Given the description of an element on the screen output the (x, y) to click on. 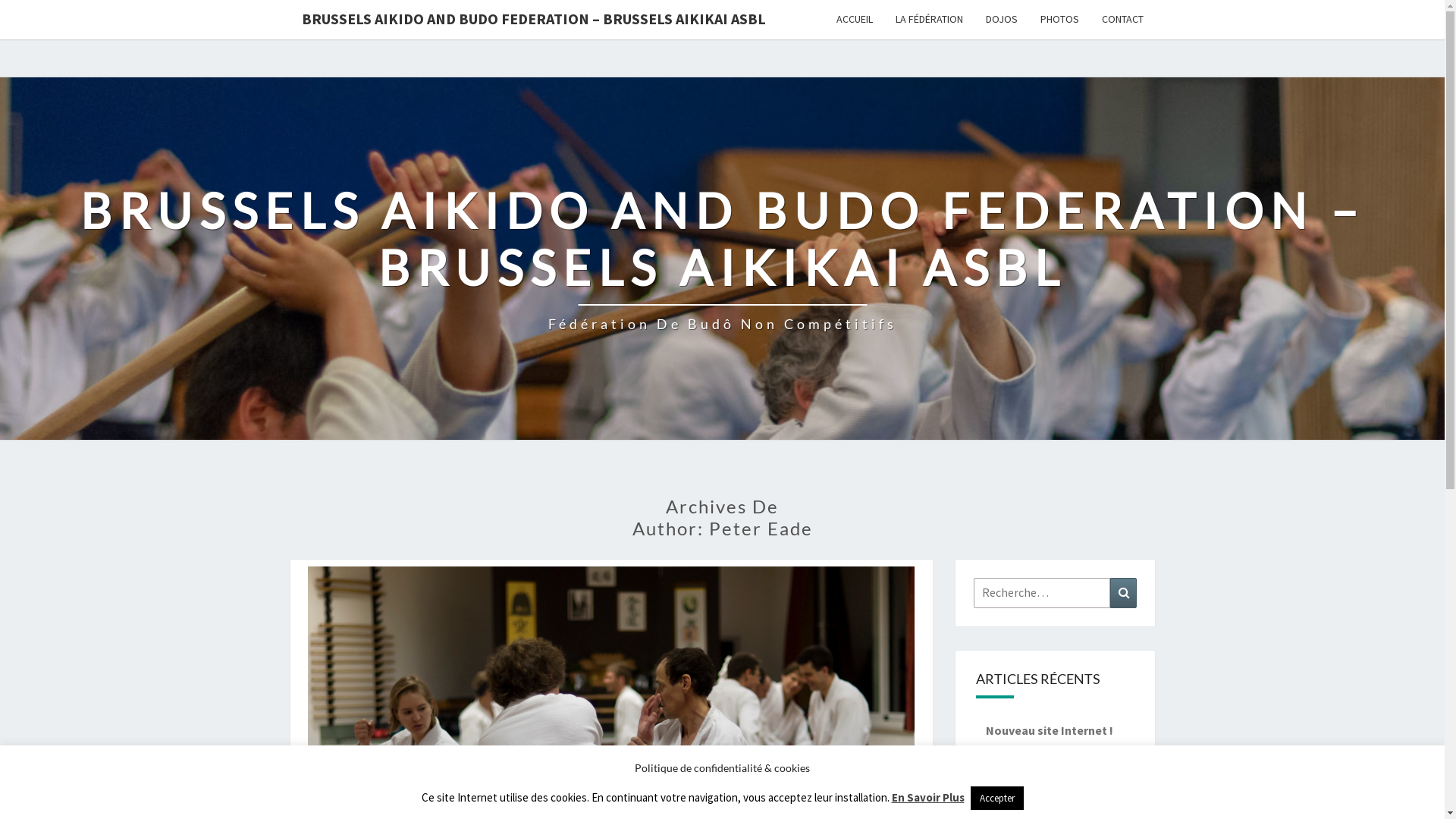
Go Do Geiko 2015 Element type: text (1032, 797)
Dojo du Cinquantenaire Element type: text (1049, 763)
Recherche Element type: text (1123, 592)
ACCUEIL Element type: text (854, 19)
CONTACT Element type: text (1122, 19)
Accepter Element type: text (996, 797)
En Savoir Plus Element type: text (927, 797)
DOJOS Element type: text (1000, 19)
PHOTOS Element type: text (1058, 19)
Nouveau site Internet ! Element type: text (1049, 729)
